Given the description of an element on the screen output the (x, y) to click on. 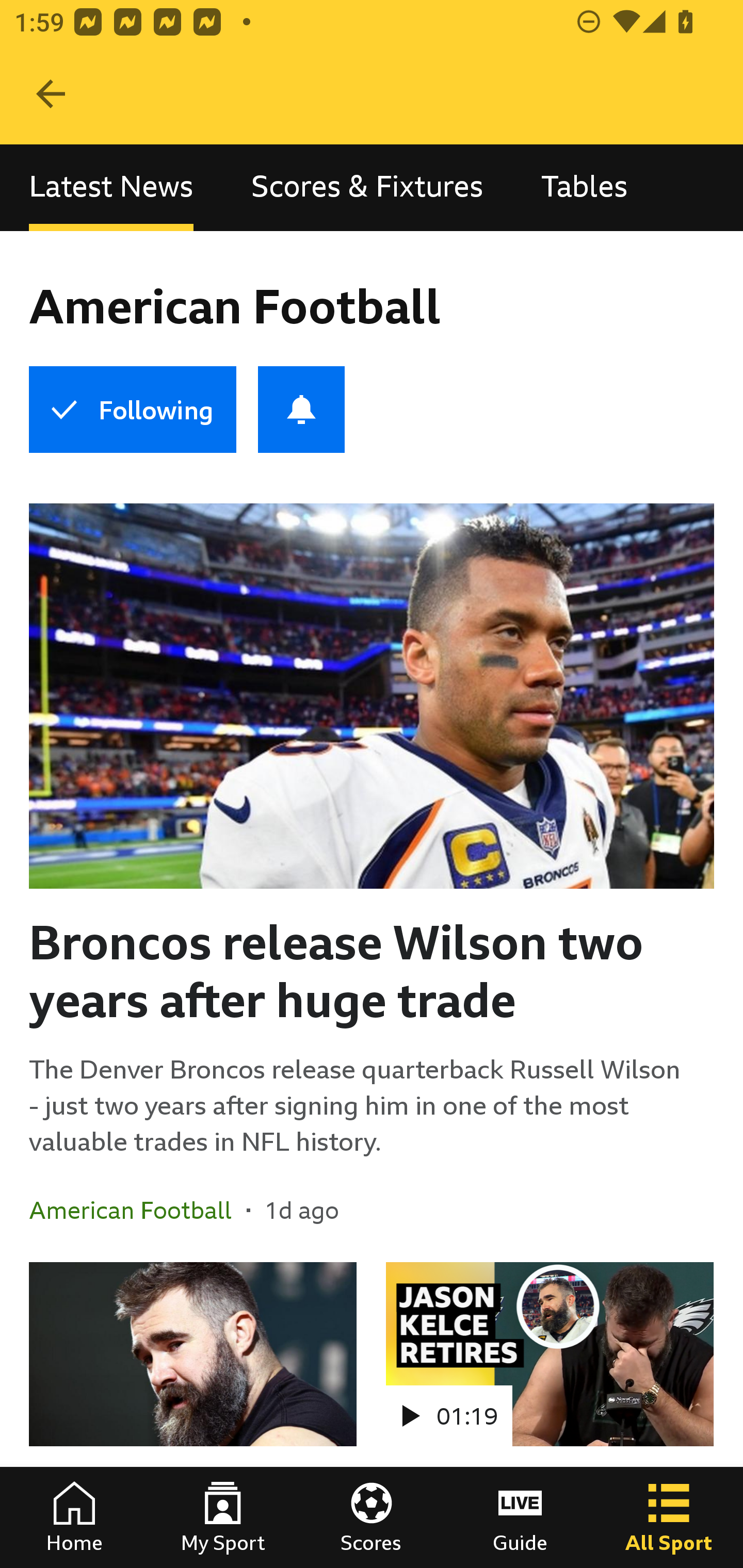
Navigate up (50, 93)
Latest News, selected Latest News (111, 187)
Scores & Fixtures (367, 187)
Tables (584, 187)
Following American Football Following (132, 409)
Push notifications for American Football (300, 409)
Tearful Jason Kelce retires after 13 NFL seasons (192, 1415)
Home (74, 1517)
My Sport (222, 1517)
Scores (371, 1517)
Guide (519, 1517)
